Given the description of an element on the screen output the (x, y) to click on. 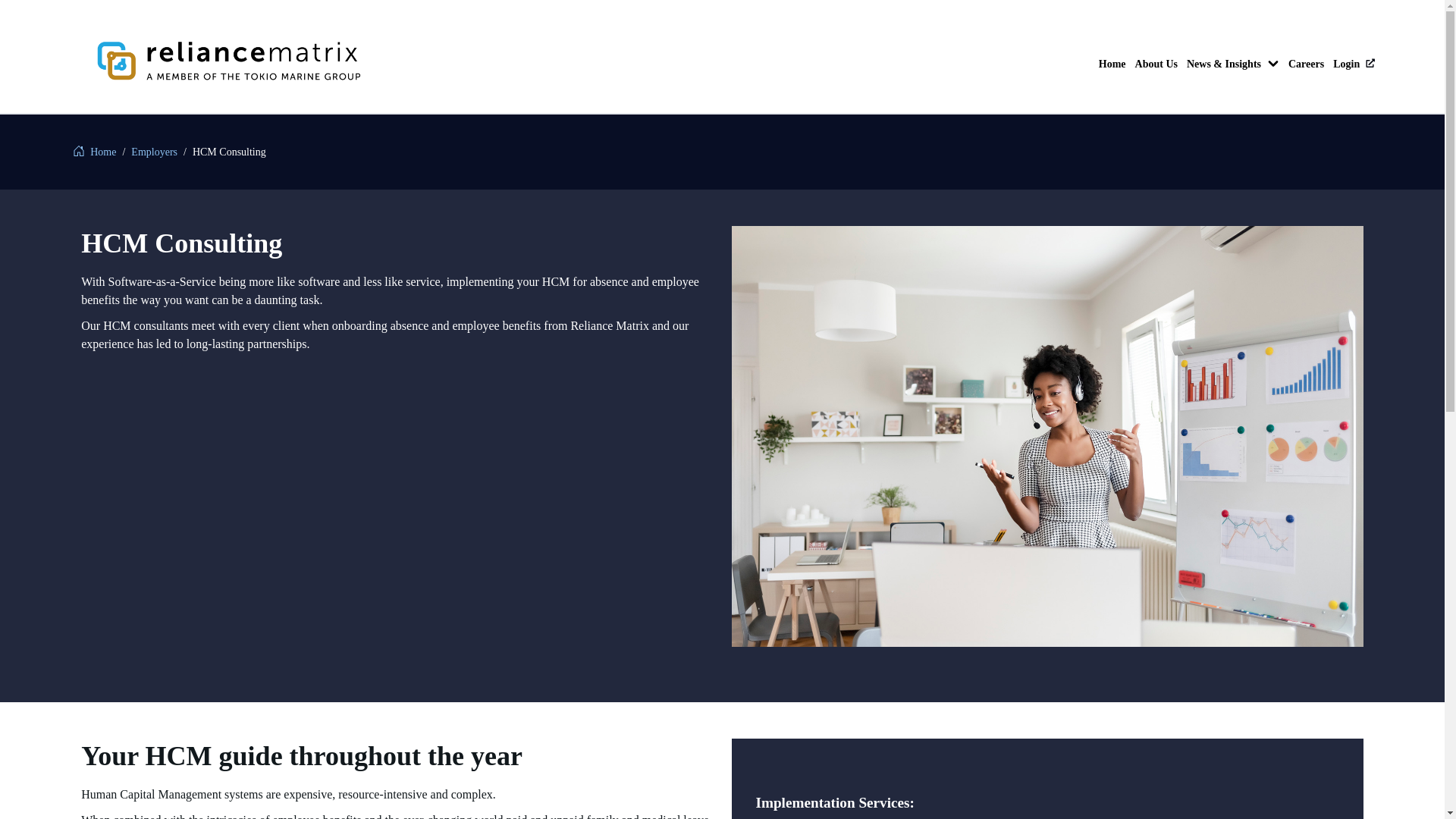
Employers (154, 152)
Home (1112, 64)
Login (1353, 64)
Home (95, 152)
About Us (1156, 64)
Careers (1305, 64)
